Given the description of an element on the screen output the (x, y) to click on. 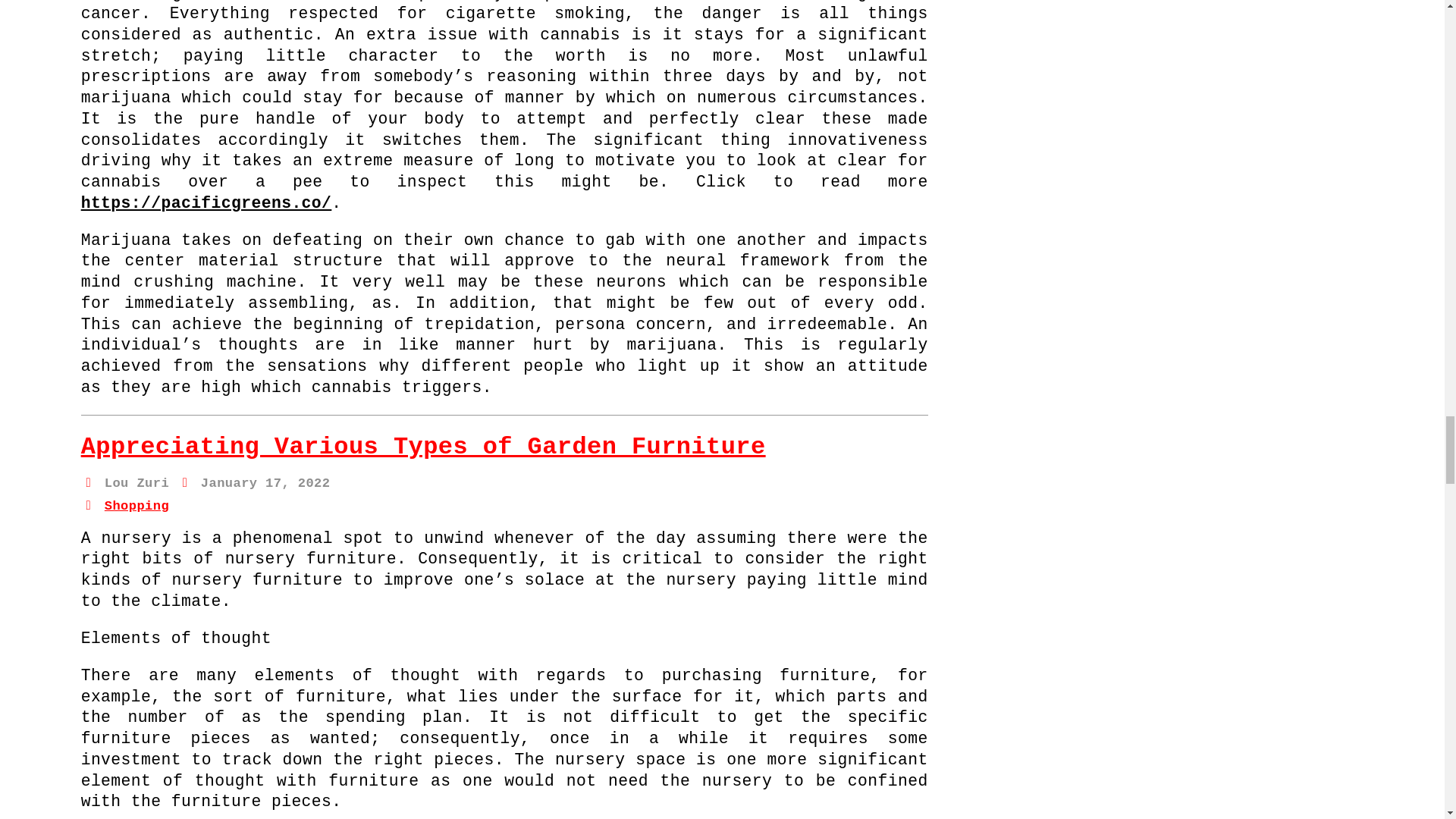
Shopping (136, 505)
Appreciating Various Types of Garden Furniture (423, 447)
View all in Shopping (136, 505)
